Given the description of an element on the screen output the (x, y) to click on. 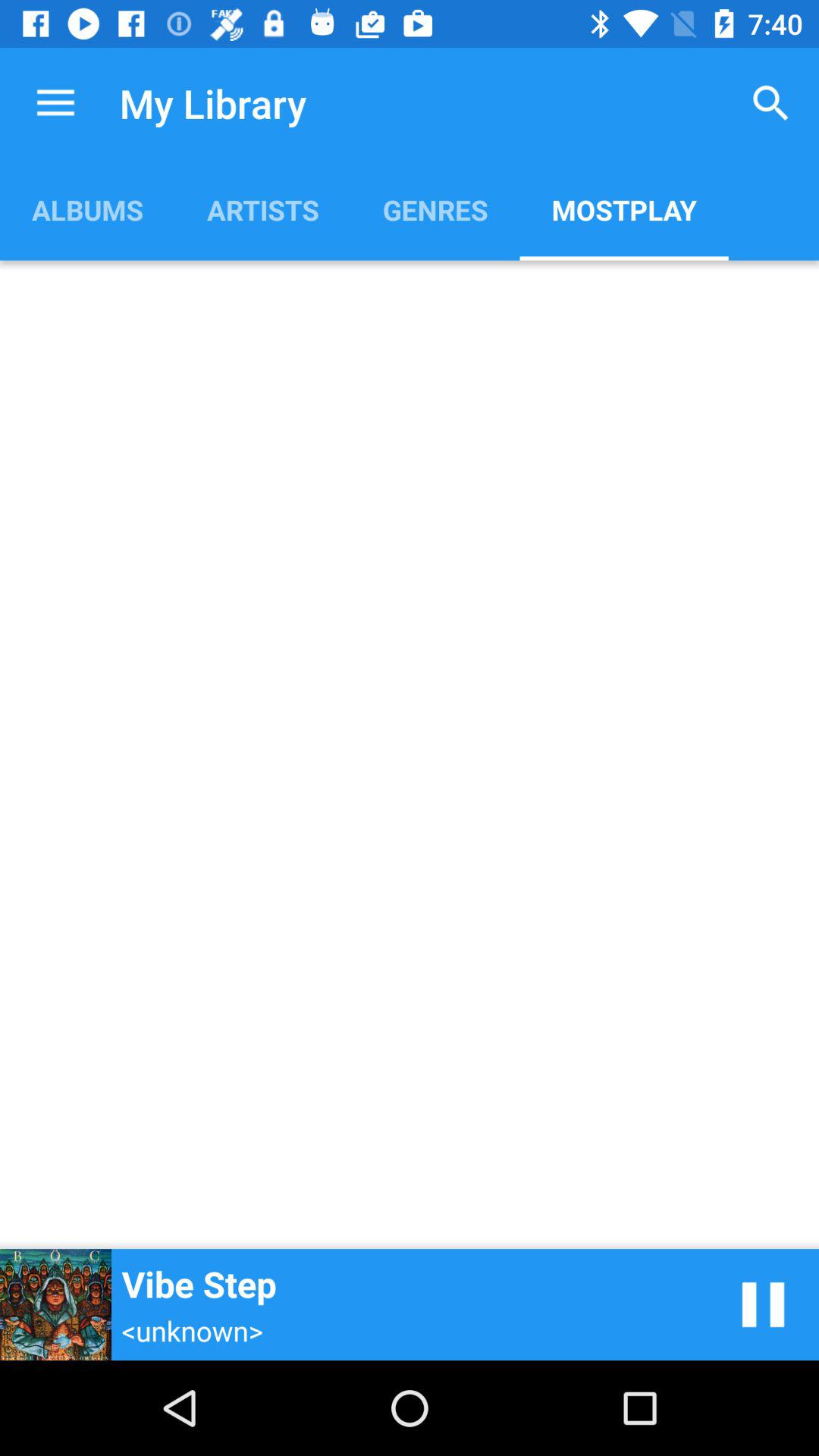
open the item to the left of my library icon (55, 103)
